Given the description of an element on the screen output the (x, y) to click on. 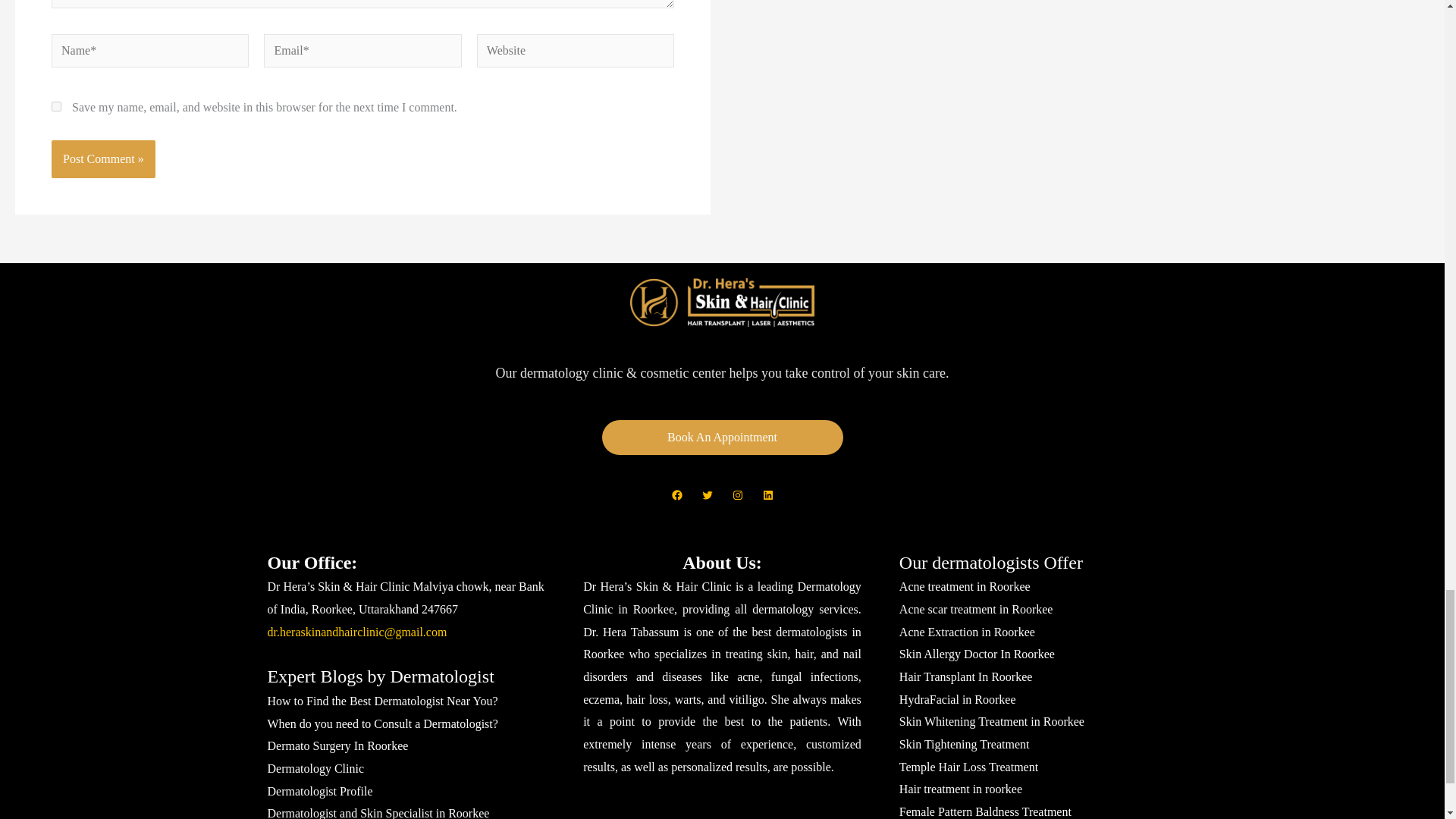
Dermatologist and Skin Specialist in Roorkee (377, 812)
HydraFacial in Roorkee (957, 698)
Hair Transplant In Roorkee (965, 676)
Skin Allergy Doctor In Roorkee (976, 653)
Dermatologist Profile (319, 790)
yes (55, 106)
Acne treatment in Roorkee (964, 585)
How to Find the Best Dermatologist Near You? (381, 700)
Clinic (315, 768)
Acne Extraction in Roorkee (967, 631)
Acne scar treatment in Roorkee (975, 608)
When do you need to Consult a Dermatologist? (381, 723)
Dermato Surgery In Roorkee (336, 745)
